Given the description of an element on the screen output the (x, y) to click on. 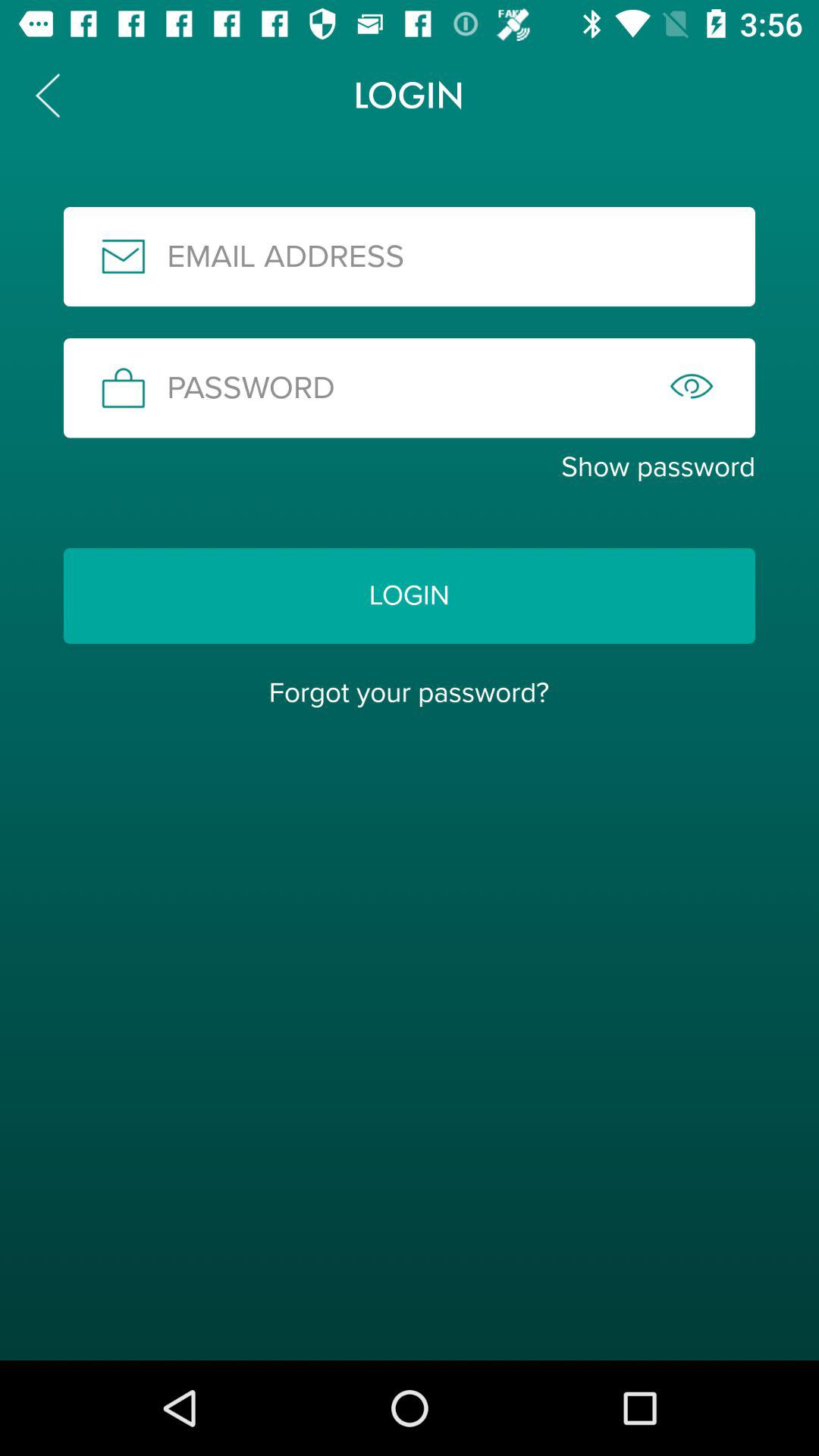
turn off icon to the left of login item (47, 95)
